Given the description of an element on the screen output the (x, y) to click on. 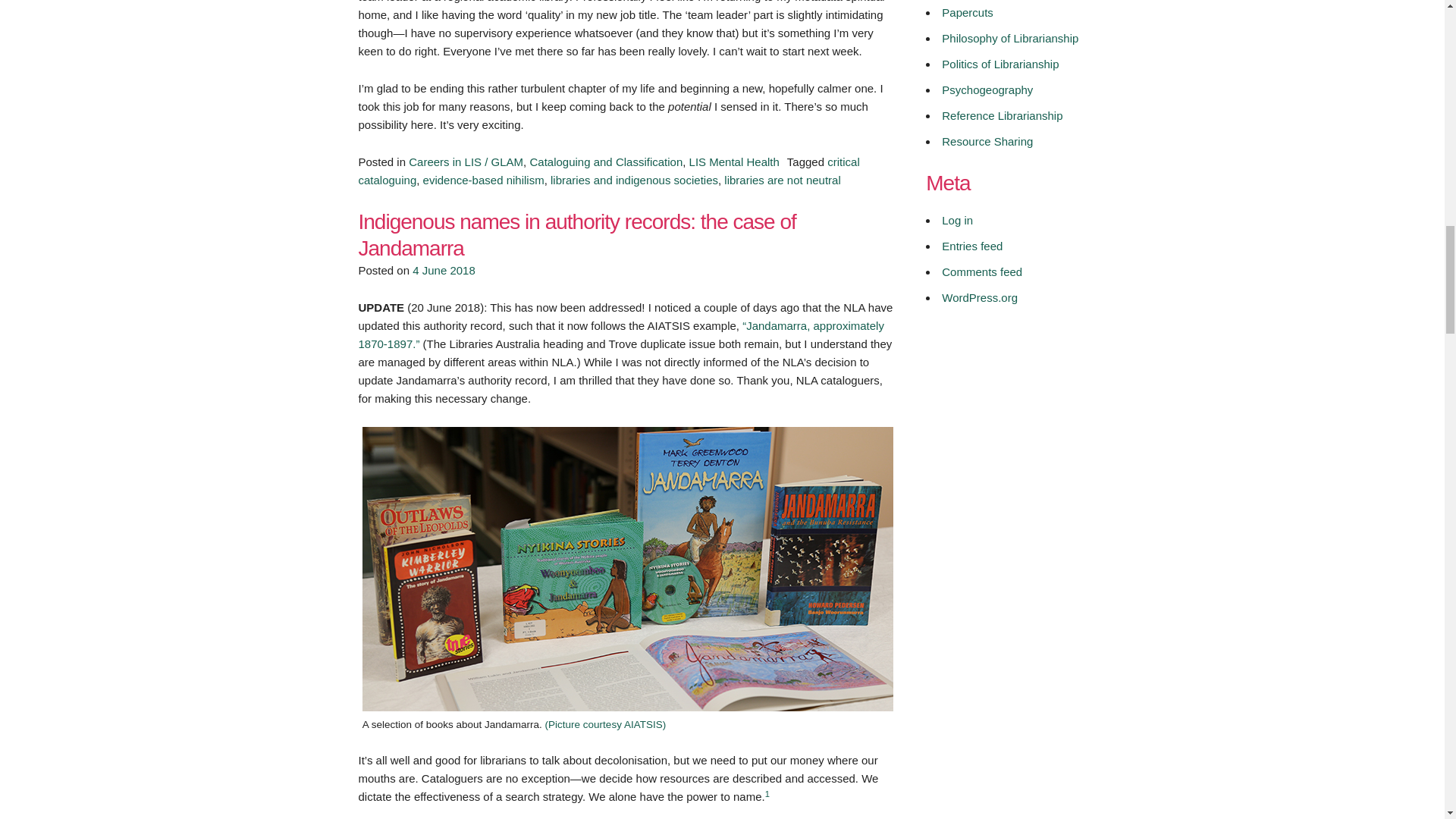
4 June 2018 (444, 269)
critical cataloguing (608, 170)
libraries and indigenous societies (633, 179)
LIS Mental Health (733, 161)
libraries are not neutral (781, 179)
evidence-based nihilism (483, 179)
Cataloguing and Classification (605, 161)
